Given the description of an element on the screen output the (x, y) to click on. 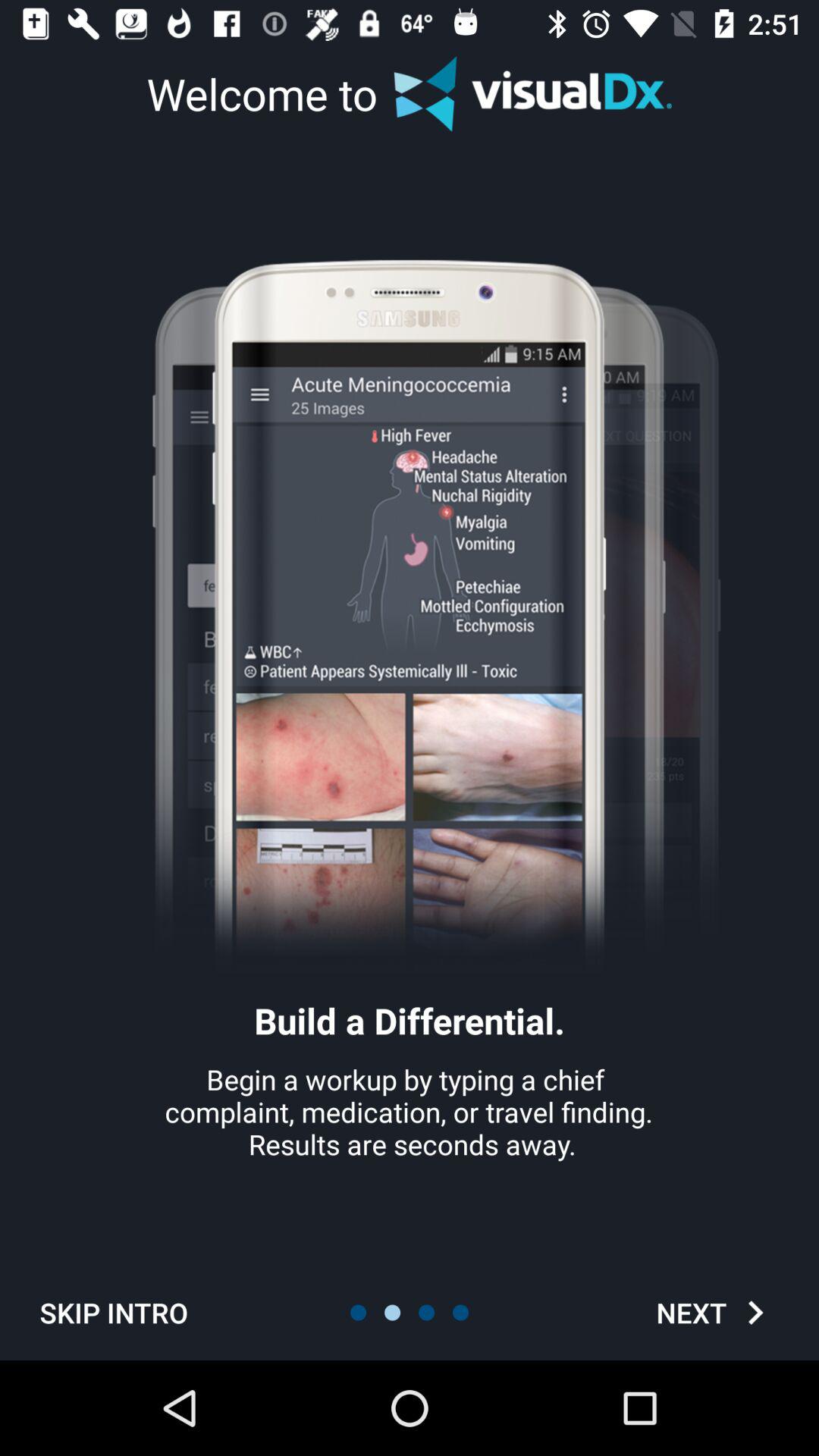
tap the next (715, 1312)
